Given the description of an element on the screen output the (x, y) to click on. 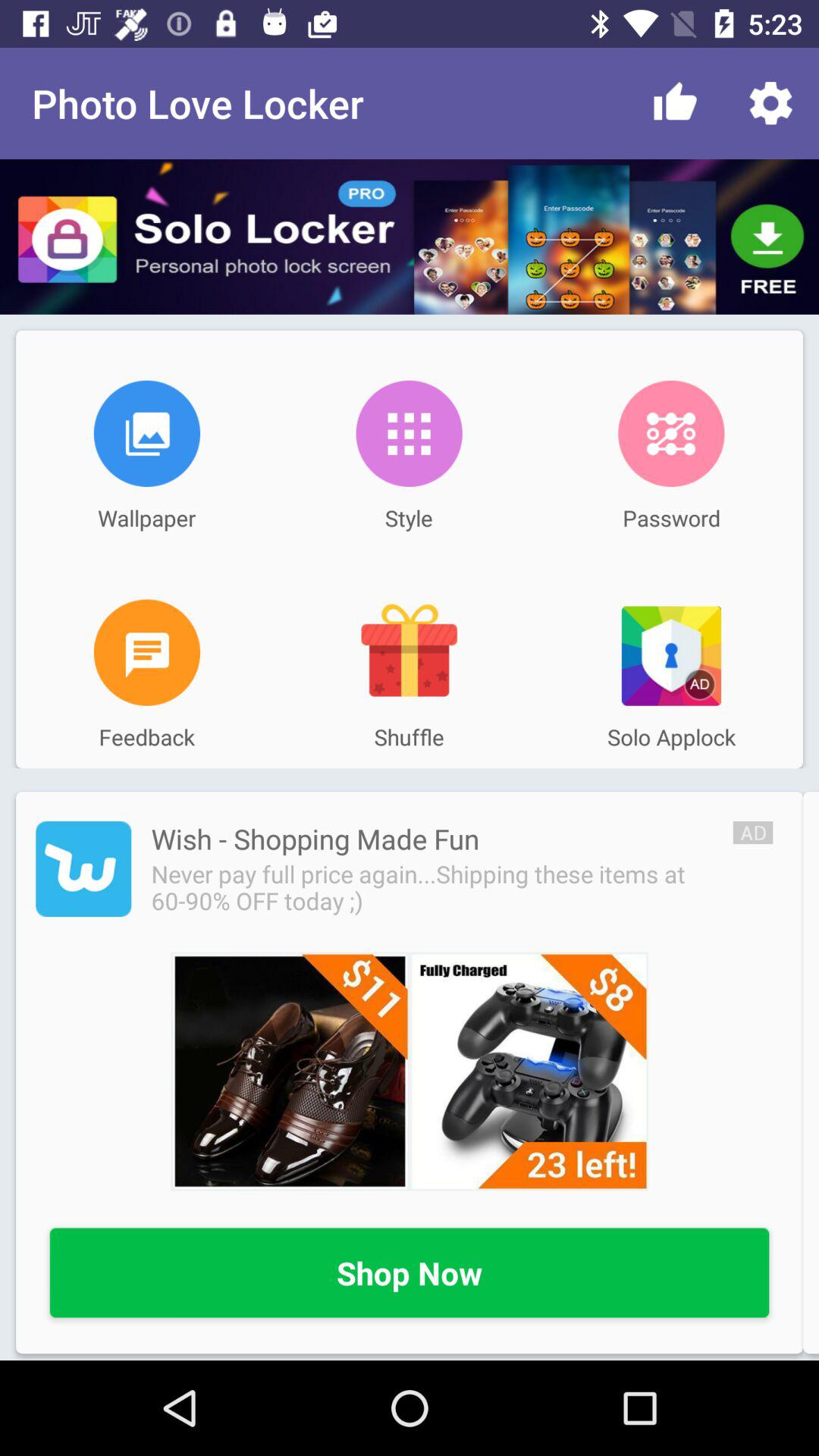
open password solver (671, 433)
